Given the description of an element on the screen output the (x, y) to click on. 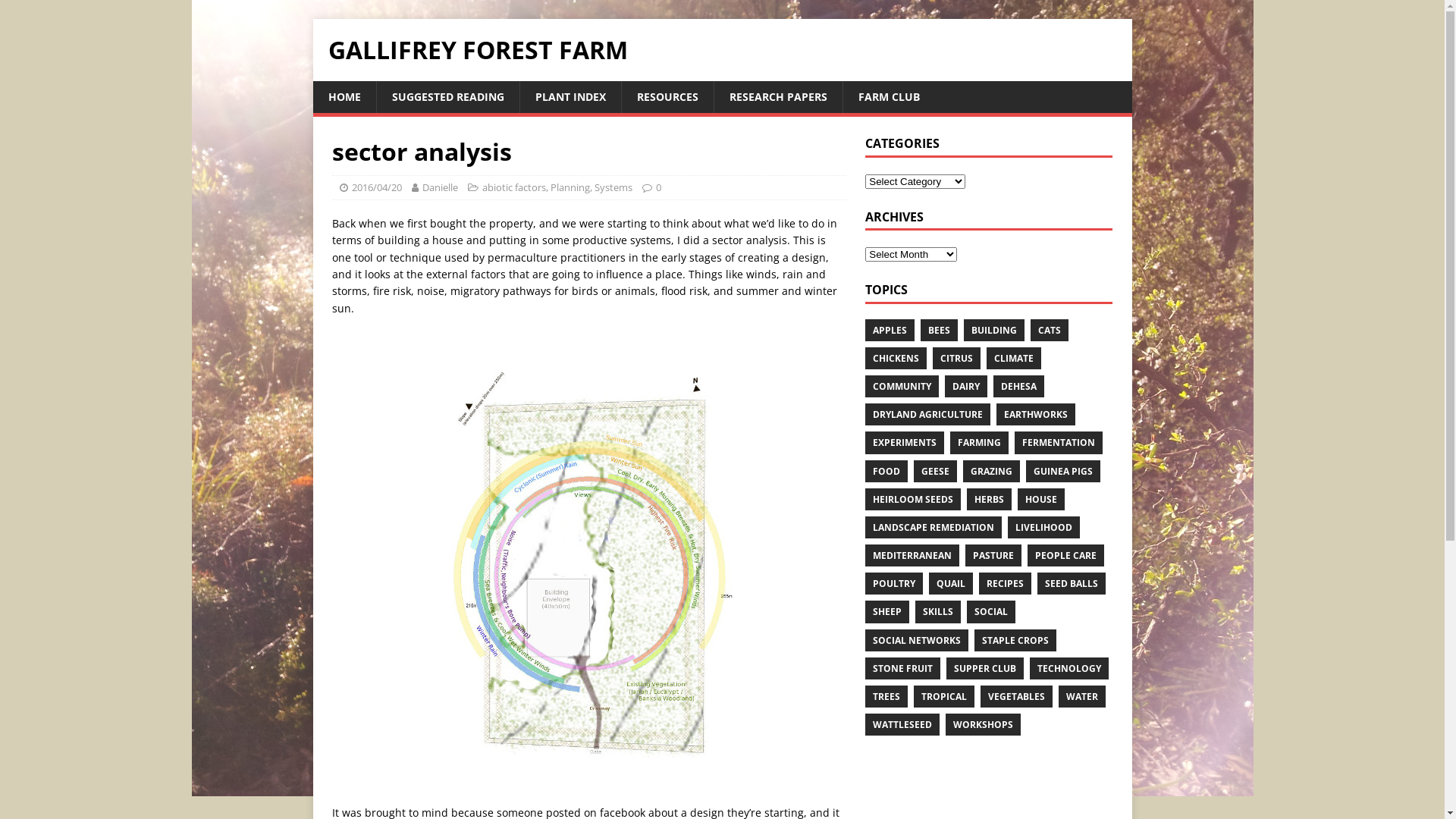
GEESE Element type: text (935, 470)
VEGETABLES Element type: text (1016, 696)
SHEEP Element type: text (887, 611)
COMMUNITY Element type: text (901, 386)
WATER Element type: text (1081, 696)
HEIRLOOM SEEDS Element type: text (912, 499)
HERBS Element type: text (988, 499)
PEOPLE CARE Element type: text (1065, 555)
TREES Element type: text (886, 696)
abiotic factors Element type: text (514, 187)
RECIPES Element type: text (1005, 583)
CATS Element type: text (1049, 330)
DRYLAND AGRICULTURE Element type: text (927, 414)
2016/04/20 Element type: text (376, 187)
SKILLS Element type: text (937, 611)
0 Element type: text (657, 187)
SEED BALLS Element type: text (1071, 583)
RESEARCH PAPERS Element type: text (776, 96)
RESOURCES Element type: text (666, 96)
Planning Element type: text (569, 187)
TROPICAL Element type: text (943, 696)
LIVELIHOOD Element type: text (1043, 527)
APPLES Element type: text (889, 330)
GUINEA PIGS Element type: text (1063, 470)
PLANT INDEX Element type: text (569, 96)
WORKSHOPS Element type: text (982, 724)
LANDSCAPE REMEDIATION Element type: text (933, 527)
BEES Element type: text (938, 330)
Systems Element type: text (613, 187)
STONE FRUIT Element type: text (902, 668)
CHICKENS Element type: text (895, 358)
SOCIAL Element type: text (990, 611)
CITRUS Element type: text (956, 358)
QUAIL Element type: text (950, 583)
TECHNOLOGY Element type: text (1068, 668)
EARTHWORKS Element type: text (1035, 414)
FARMING Element type: text (979, 442)
GRAZING Element type: text (991, 470)
FARM CLUB Element type: text (887, 96)
PASTURE Element type: text (993, 555)
FERMENTATION Element type: text (1058, 442)
GALLIFREY FOREST FARM Element type: text (721, 49)
HOME Element type: text (343, 96)
WATTLESEED Element type: text (902, 724)
Danielle Element type: text (439, 187)
SUGGESTED READING Element type: text (447, 96)
MEDITERRANEAN Element type: text (912, 555)
DAIRY Element type: text (965, 386)
HOUSE Element type: text (1040, 499)
FOOD Element type: text (886, 470)
SUPPER CLUB Element type: text (984, 668)
STAPLE CROPS Element type: text (1015, 640)
POULTRY Element type: text (893, 583)
BUILDING Element type: text (993, 330)
DEHESA Element type: text (1018, 386)
SOCIAL NETWORKS Element type: text (916, 640)
CLIMATE Element type: text (1013, 358)
EXPERIMENTS Element type: text (904, 442)
